Given the description of an element on the screen output the (x, y) to click on. 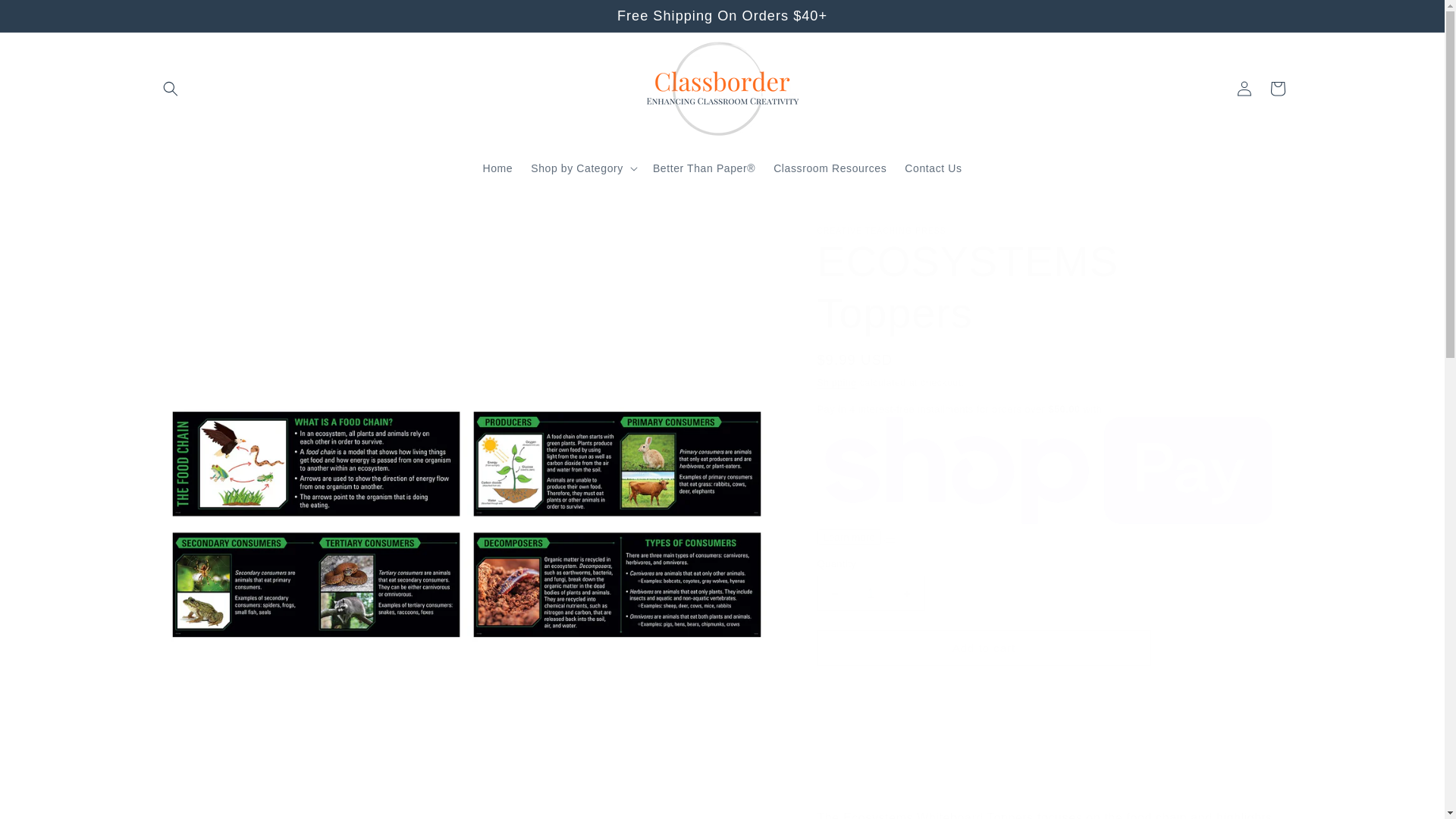
Log in (1243, 88)
Classroom Resources (829, 168)
Skip to content (45, 17)
Home (497, 168)
Contact Us (933, 168)
Cart (1277, 88)
1 (870, 592)
Skip to product information (199, 228)
